Given the description of an element on the screen output the (x, y) to click on. 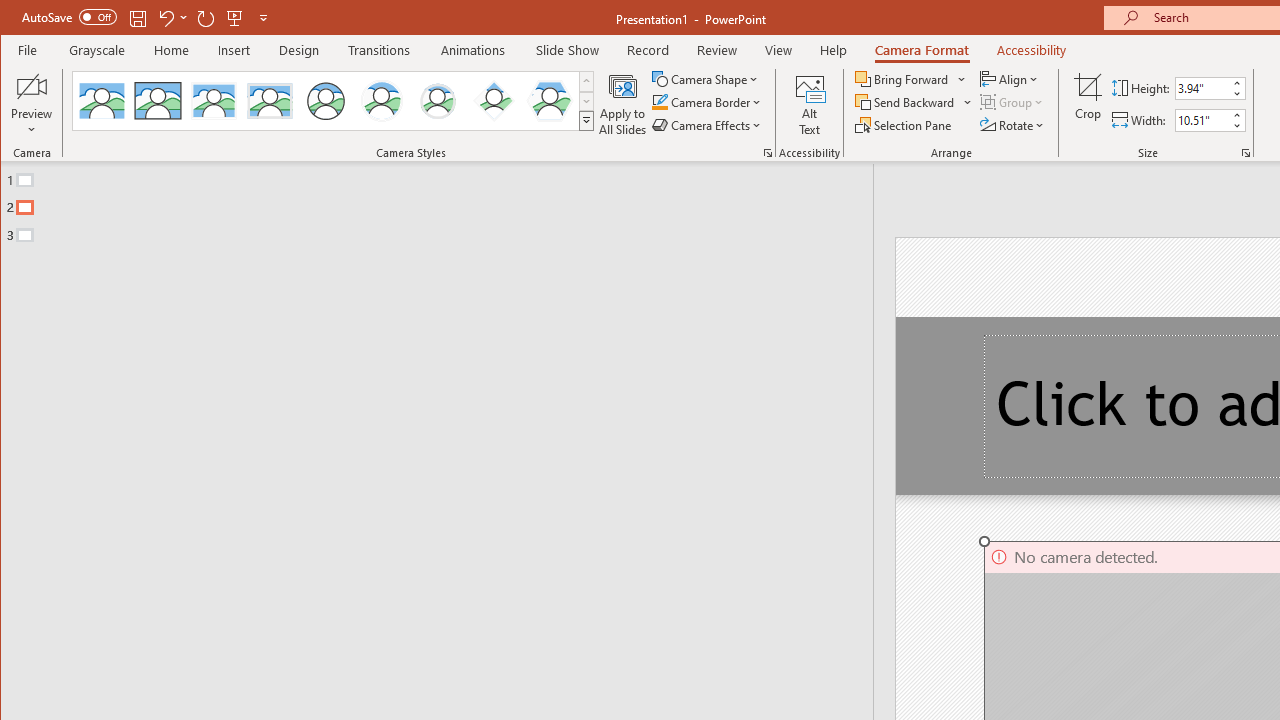
Center Shadow Circle (381, 100)
Center Shadow Hexagon (550, 100)
Bring Forward (911, 78)
Soft Edge Circle (437, 100)
Selection Pane... (904, 124)
No Style (102, 100)
Send Backward (914, 101)
AutomationID: CameoStylesGallery (333, 101)
